Given the description of an element on the screen output the (x, y) to click on. 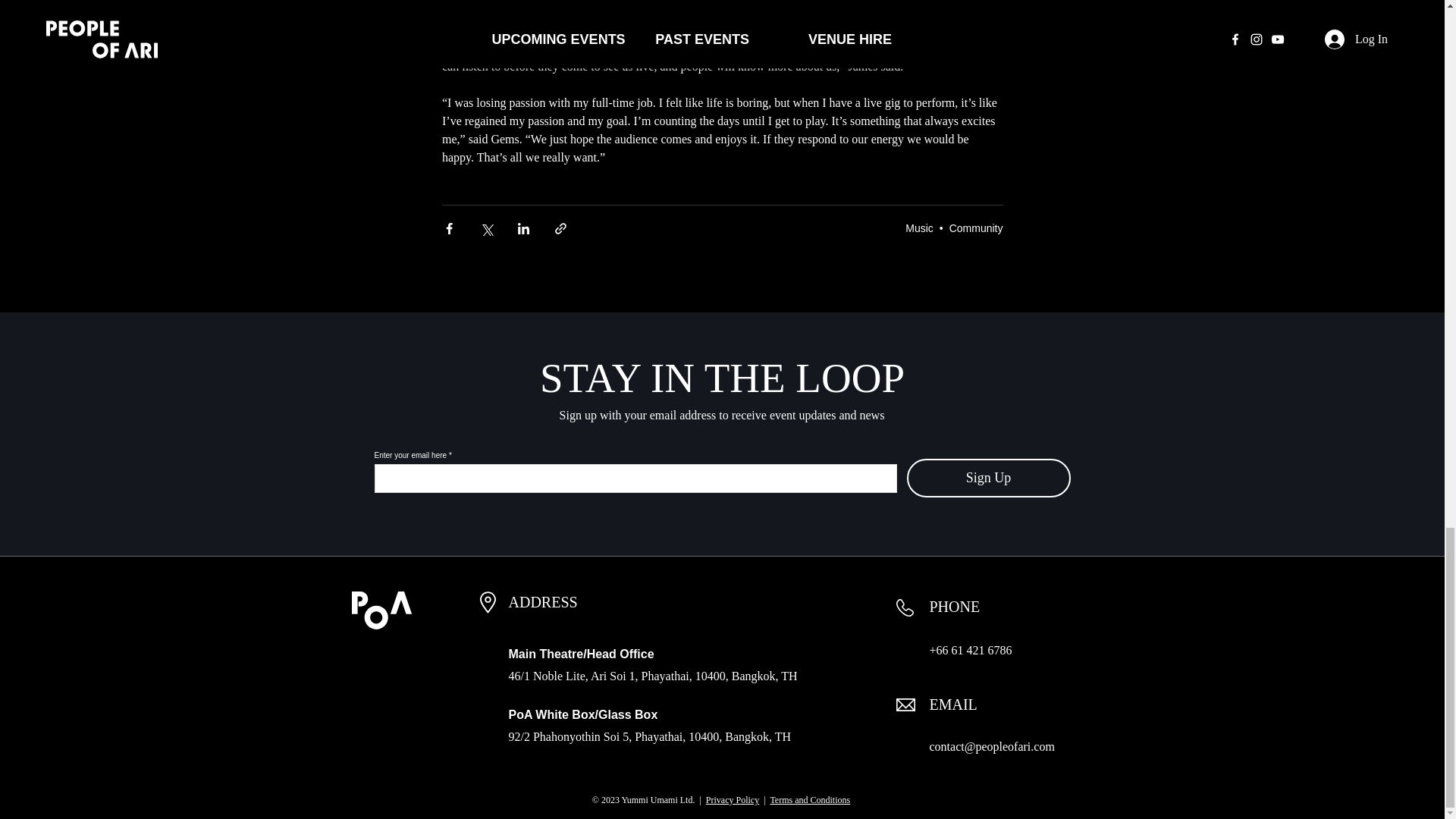
Music (919, 227)
Sign Up (988, 477)
Privacy Policy (732, 799)
Community (976, 227)
Terms and Conditions (810, 799)
